Given the description of an element on the screen output the (x, y) to click on. 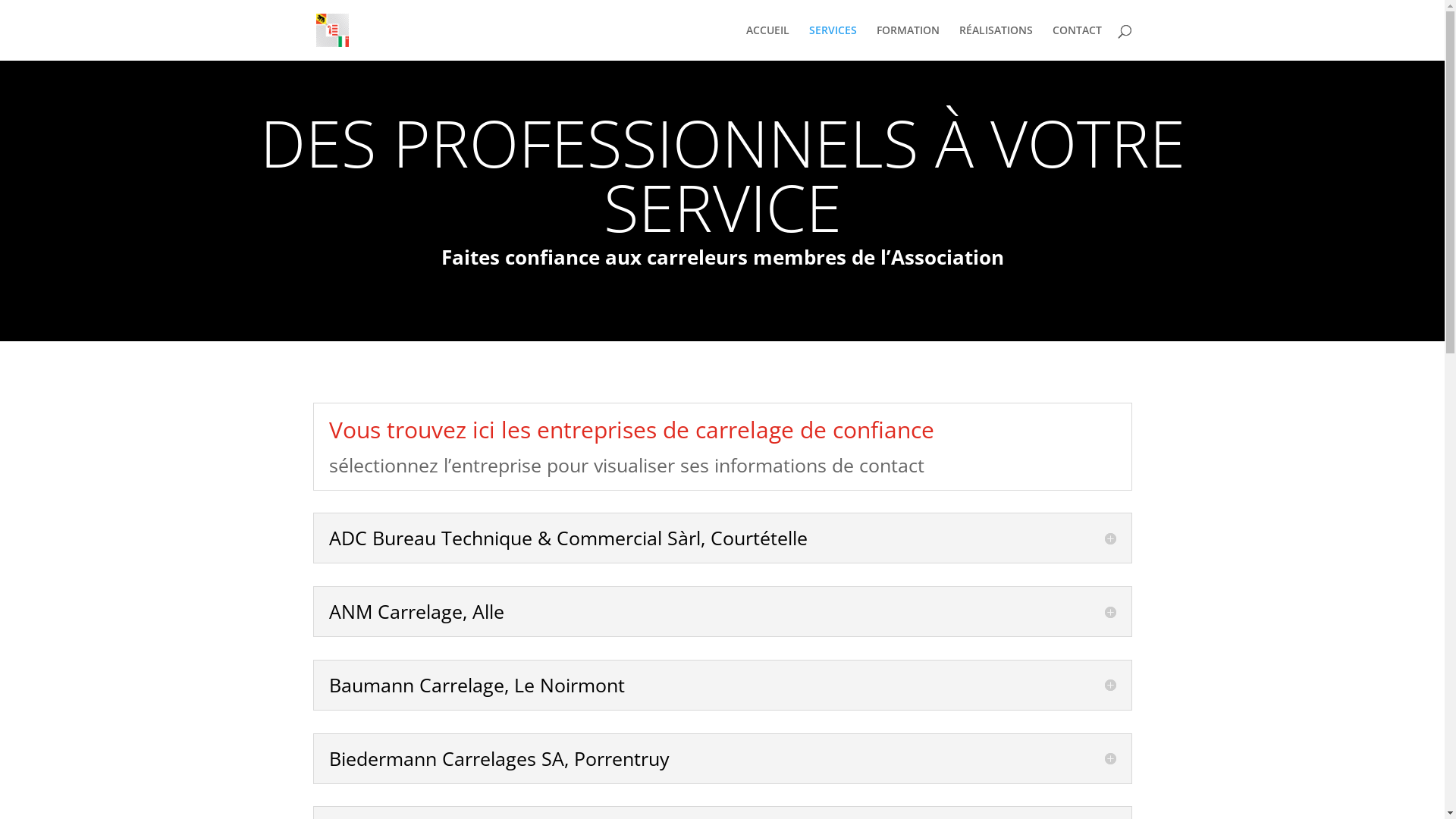
ACCUEIL Element type: text (767, 42)
CONTACT Element type: text (1076, 42)
SERVICES Element type: text (832, 42)
FORMATION Element type: text (907, 42)
